Given the description of an element on the screen output the (x, y) to click on. 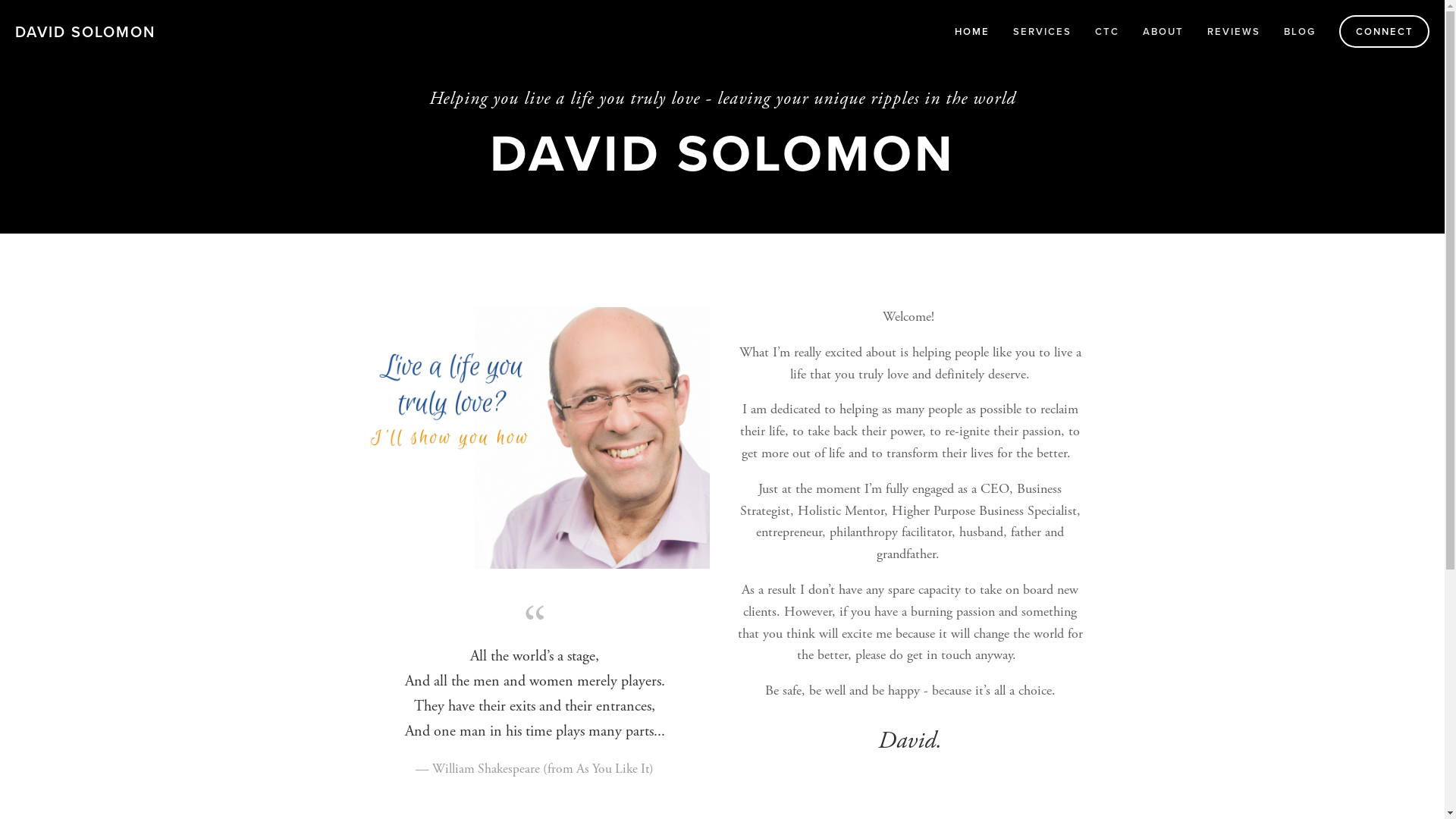
SERVICES Element type: text (1042, 30)
REVIEWS Element type: text (1233, 30)
DAVID SOLOMON Element type: text (85, 30)
BLOG Element type: text (1299, 30)
ABOUT Element type: text (1162, 30)
CONNECT Element type: text (1384, 31)
CTC Element type: text (1107, 30)
HOME Element type: text (971, 30)
